Given the description of an element on the screen output the (x, y) to click on. 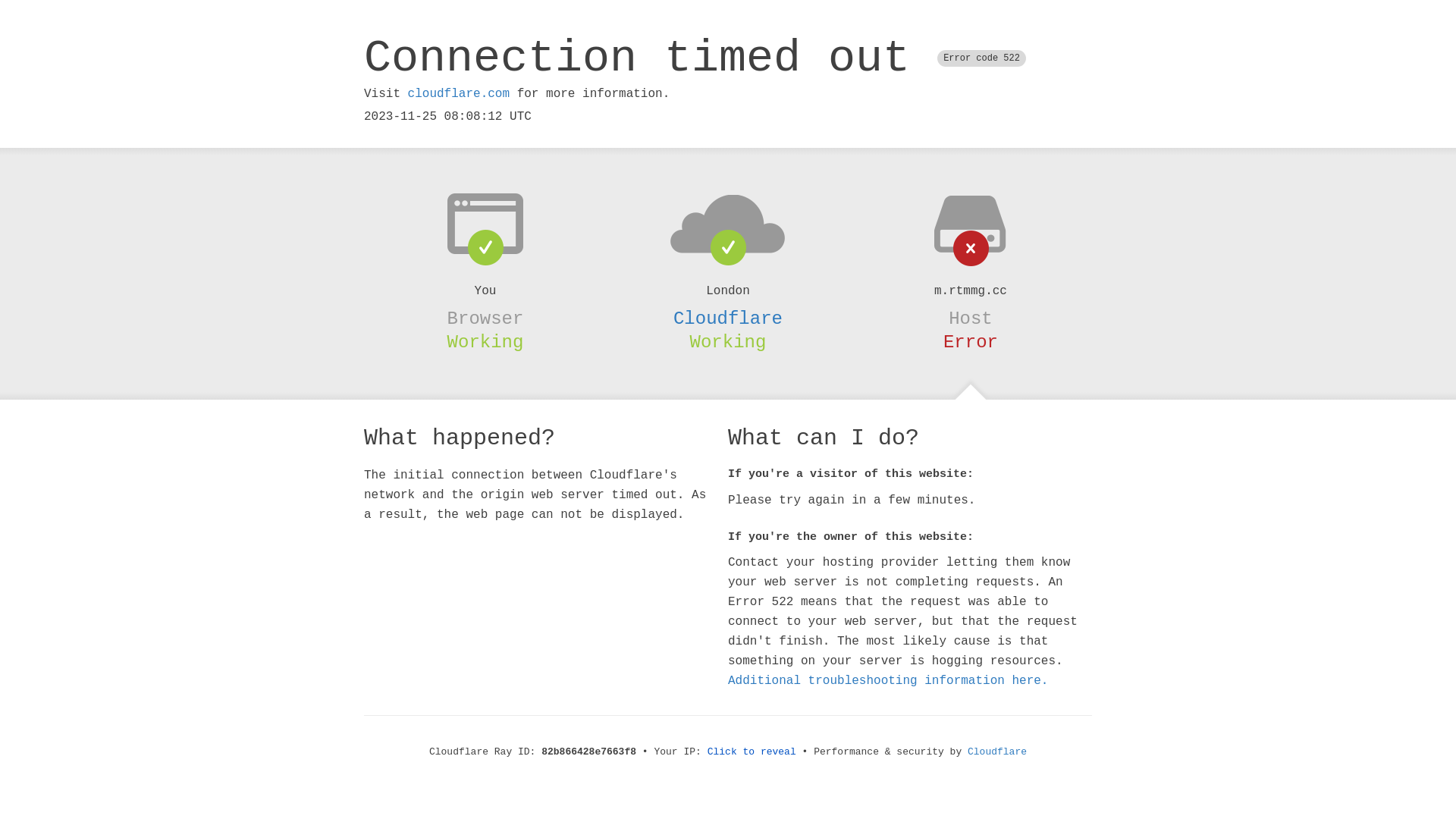
cloudflare.com Element type: text (458, 93)
Cloudflare Element type: text (996, 751)
Additional troubleshooting information here. Element type: text (888, 680)
Click to reveal Element type: text (751, 751)
Cloudflare Element type: text (727, 318)
